Given the description of an element on the screen output the (x, y) to click on. 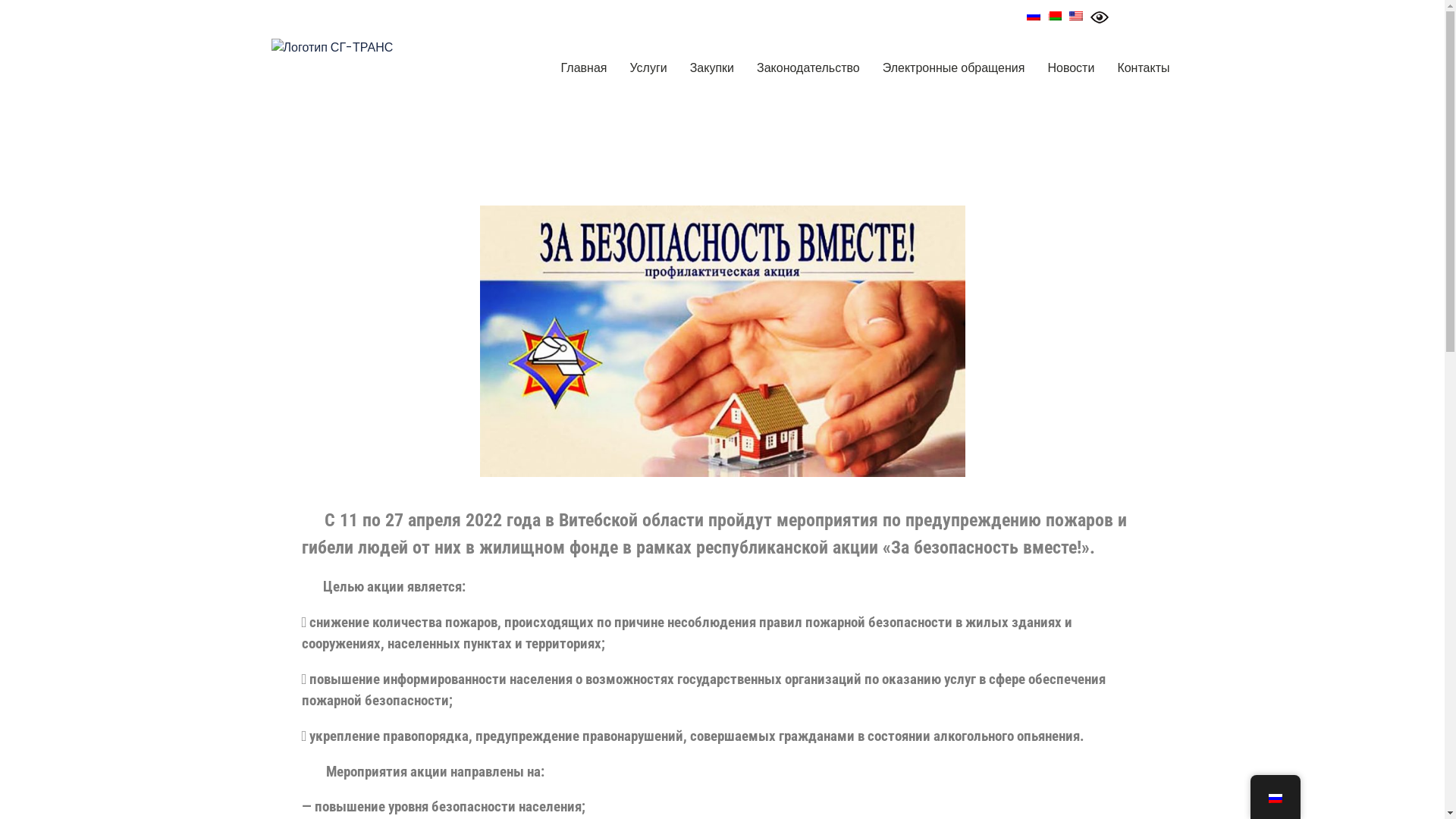
Belarusian Element type: hover (1054, 15)
English Element type: hover (1075, 15)
Russian Element type: hover (1274, 798)
Russian Element type: hover (1033, 15)
